Given the description of an element on the screen output the (x, y) to click on. 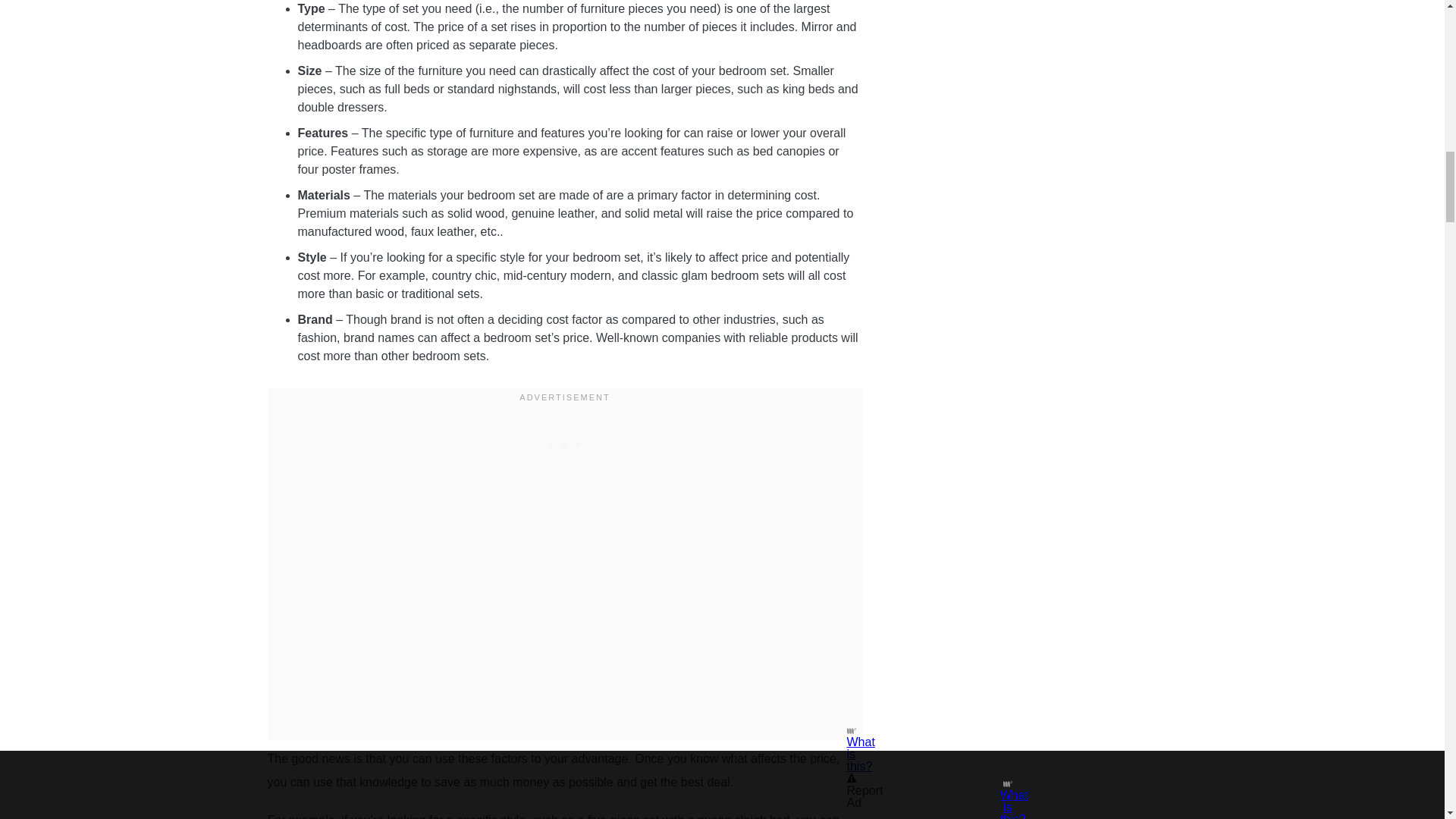
3rd party ad content (564, 440)
